Given the description of an element on the screen output the (x, y) to click on. 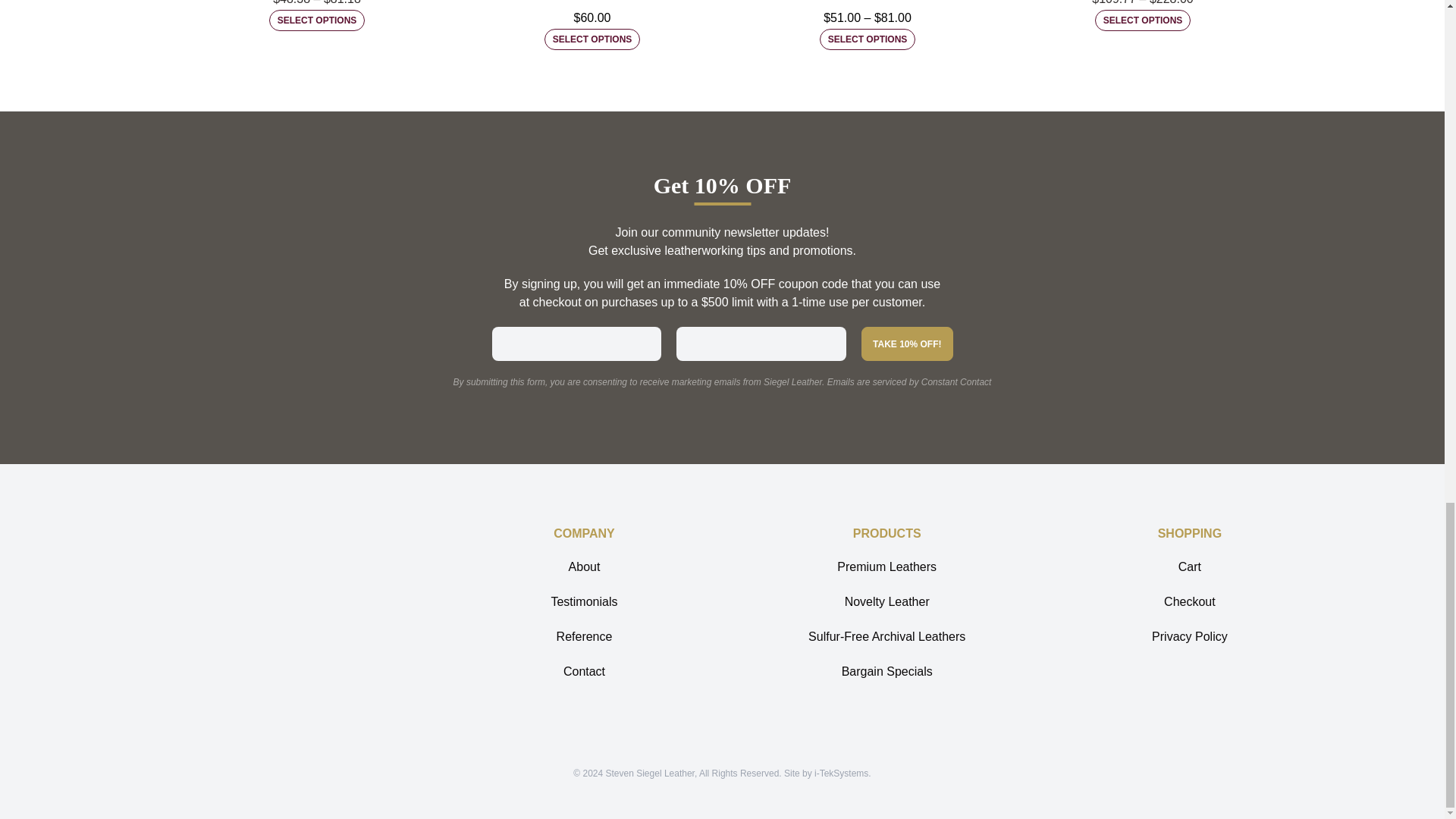
Emails are serviced by Constant Contact (909, 381)
SELECT OPTIONS (867, 38)
About (584, 567)
SELECT OPTIONS (317, 20)
Testimonials (583, 602)
SELECT OPTIONS (1142, 20)
SELECT OPTIONS (592, 38)
